Given the description of an element on the screen output the (x, y) to click on. 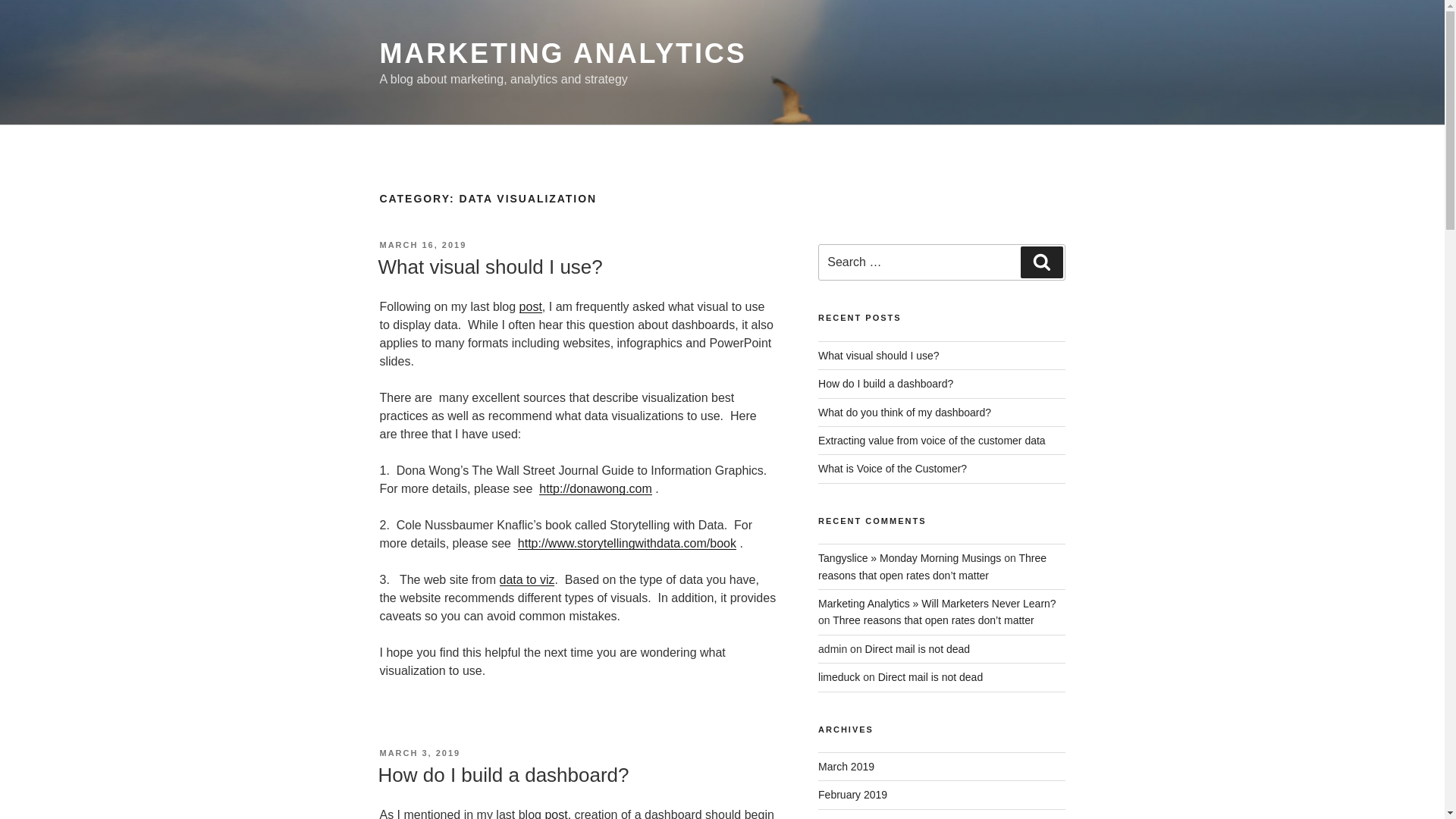
post (530, 306)
What visual should I use? (878, 355)
Direct mail is not dead (930, 676)
limeduck (839, 676)
July 2018 (840, 818)
post (555, 813)
What do you think of my dashboard? (904, 412)
February 2019 (852, 794)
How do I build a dashboard? (502, 774)
March 2019 (846, 766)
data to viz (526, 579)
Search (1041, 262)
MARCH 16, 2019 (421, 244)
What visual should I use? (489, 266)
How do I build a dashboard? (885, 383)
